Given the description of an element on the screen output the (x, y) to click on. 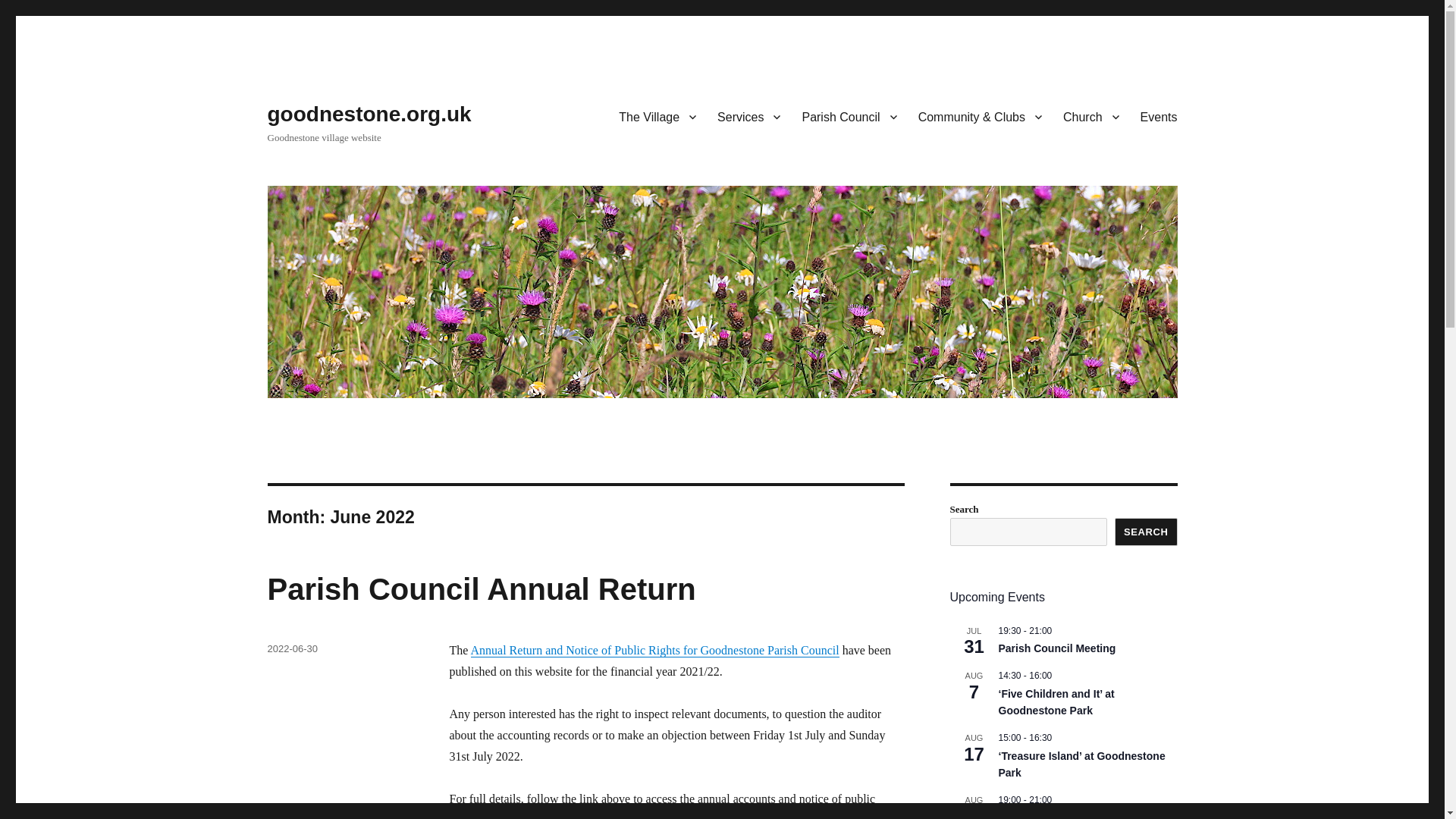
Parish Council Meeting (1056, 648)
goodnestone.org.uk (368, 114)
Parish Council (848, 116)
The Village (657, 116)
Services (748, 116)
